Given the description of an element on the screen output the (x, y) to click on. 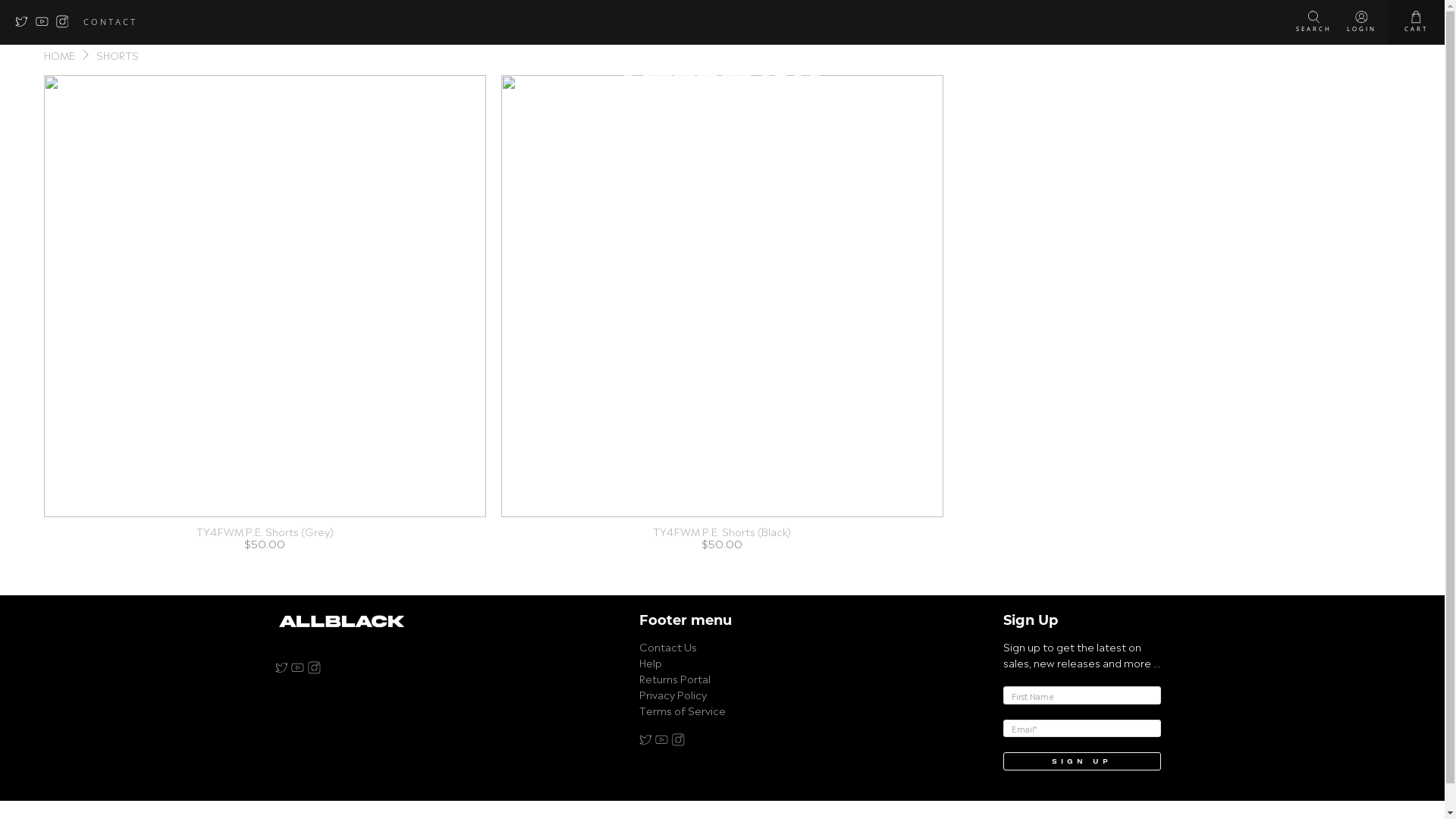
LOGIN Element type: text (1361, 22)
CONTACT Element type: text (110, 21)
SEARCH Element type: text (1313, 22)
SHORTS Element type: text (117, 54)
TY4FWM P.E. Shorts (Black) Element type: text (721, 530)
Returns Portal Element type: text (673, 677)
CART Element type: text (1415, 22)
ALLBLACK Store on Twitter Element type: hover (25, 24)
Terms of Service Element type: text (681, 709)
SIGN UP Element type: text (1081, 761)
ACCESSORIES Element type: text (1139, 65)
ALLBLACK Store on YouTube Element type: hover (297, 668)
TY4FWM P.E. Shorts (Grey) Element type: text (264, 530)
ALLBLACK Store on YouTube Element type: hover (661, 740)
Help Element type: text (649, 661)
ALLBLACK Store on Twitter Element type: hover (280, 668)
ALLBLACK Store on YouTube Element type: hover (45, 24)
ALLBLACK Store on Twitter Element type: hover (644, 740)
APPAREL Element type: text (304, 65)
Privacy Policy Element type: text (672, 693)
Contact Us Element type: text (667, 645)
ALLBLACK Store on Instagram Element type: hover (66, 24)
ALLBLACK Store on Instagram Element type: hover (677, 740)
HOME Element type: text (59, 54)
ALLBLACK Store on Instagram Element type: hover (313, 668)
ALLBLACK Store Element type: hover (722, 65)
ALLBLACK Store Element type: hover (340, 628)
